Given the description of an element on the screen output the (x, y) to click on. 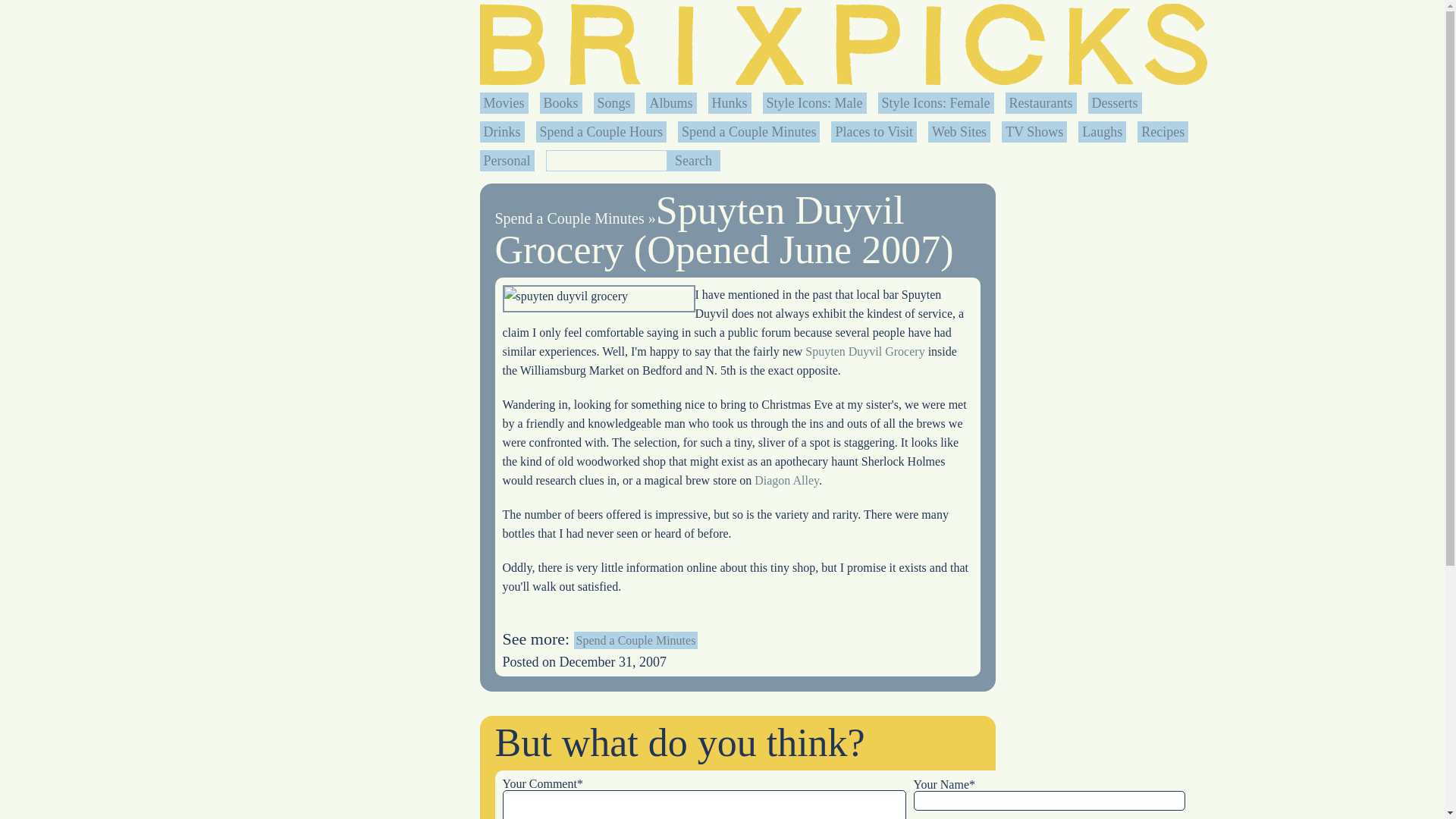
Books (560, 102)
Desserts (1115, 102)
Search (693, 160)
Restaurants (1041, 102)
Diagon Alley (786, 480)
Web Sites (959, 131)
Style Icons: Female (936, 102)
Places to Visit (873, 131)
Personal (507, 160)
Search (693, 160)
